Given the description of an element on the screen output the (x, y) to click on. 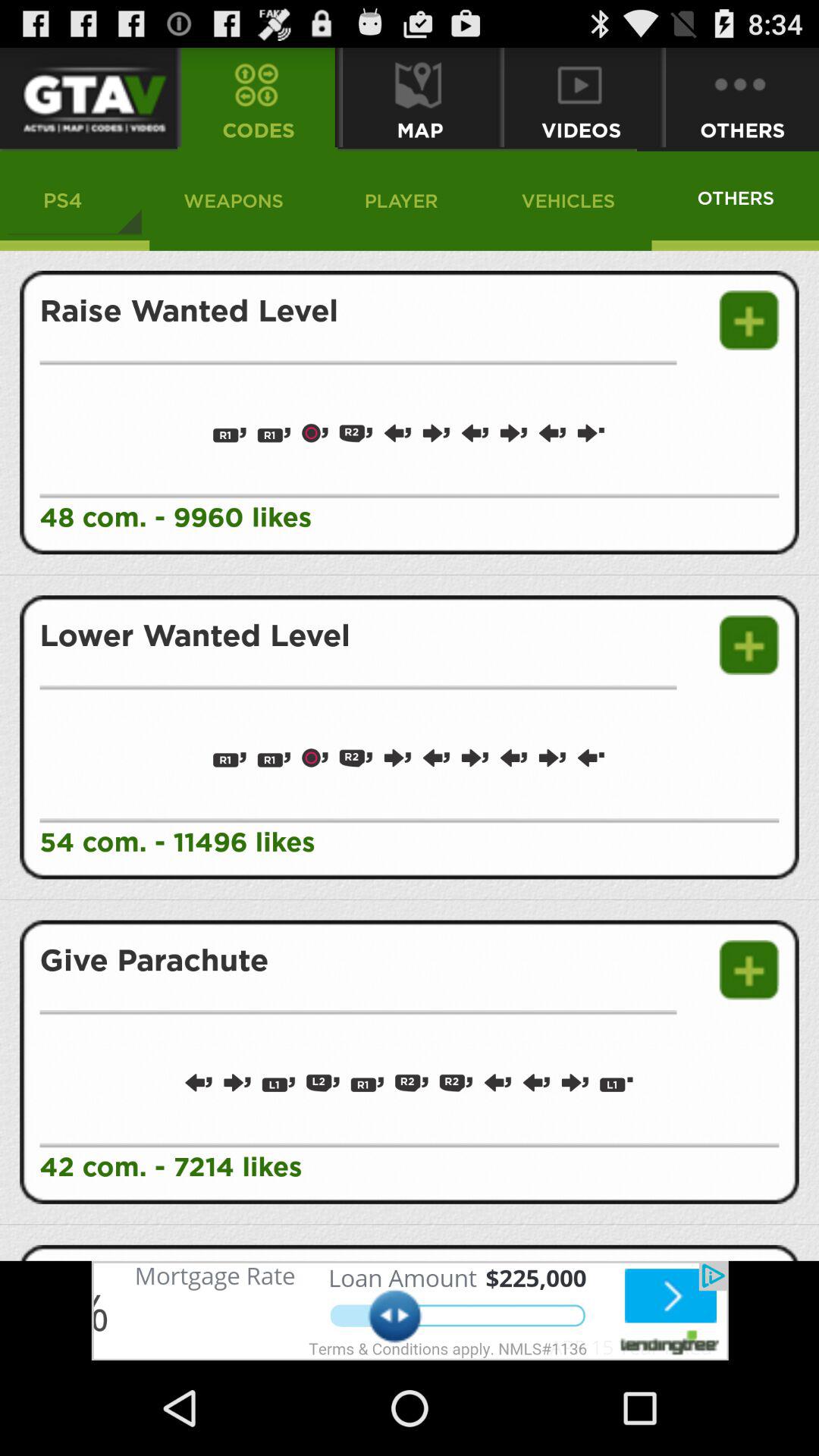
gtav (86, 97)
